Given the description of an element on the screen output the (x, y) to click on. 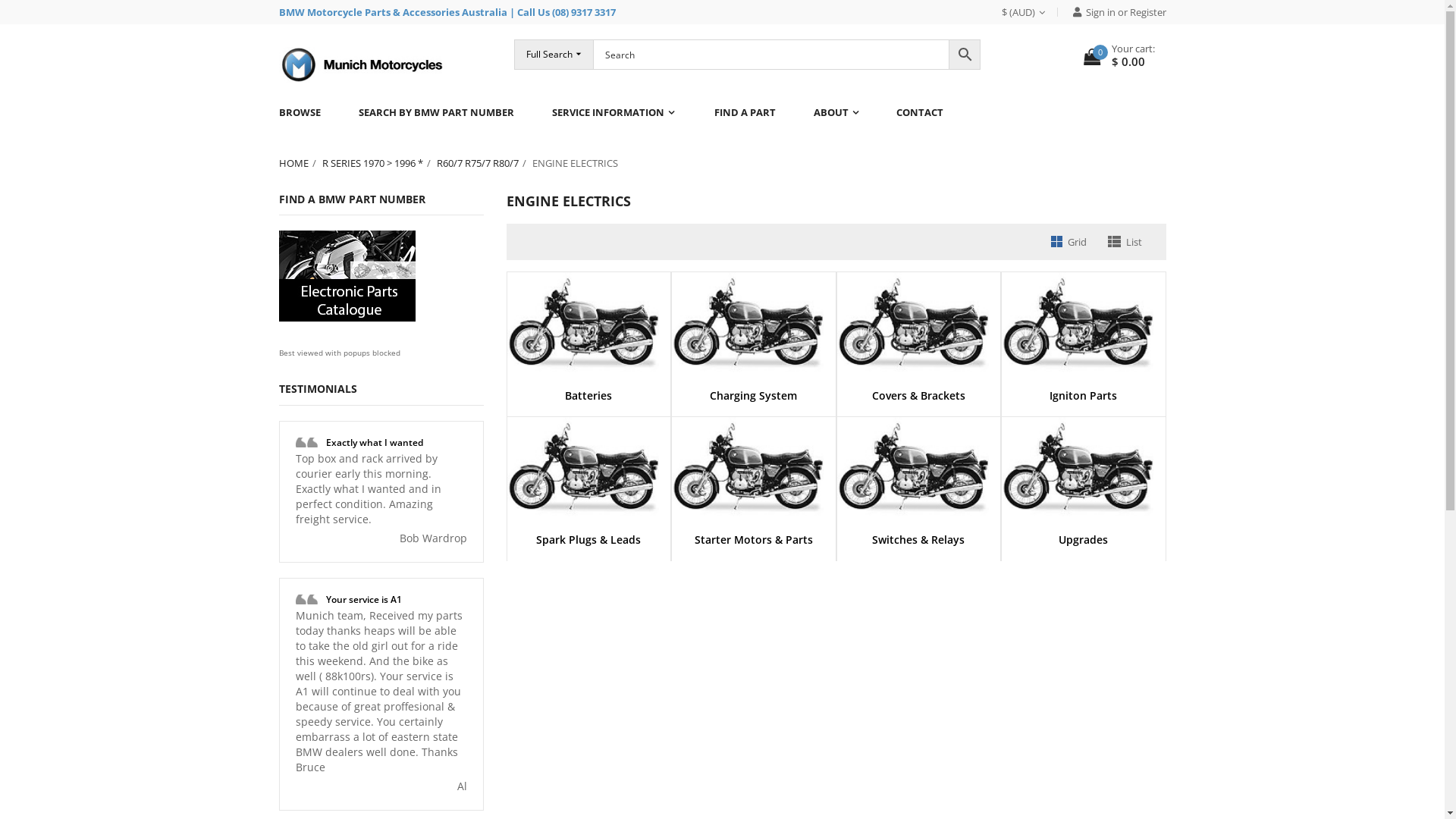
 FIND A PART Element type: text (743, 112)
Batteries Element type: text (588, 357)
Switches & Relays Element type: text (919, 502)
Grid Element type: text (1068, 241)
HOME Element type: text (300, 162)
BMW Motorcycle Parts & Accessories Australia Element type: text (393, 12)
Covers & Brackets Element type: text (919, 357)
Upgrades Element type: text (1083, 502)
0
Your cart:
$ 0.00 Element type: text (1118, 56)
| Call Us (08) 9317 3317 Element type: text (562, 12)
Igniton Parts Element type: text (1083, 357)
$ (AUD) Element type: text (1029, 12)
ABOUT Element type: text (835, 112)
R SERIES 1970 > 1996 * Element type: text (378, 162)
BROWSE Element type: text (309, 112)
Charging System Element type: text (753, 357)
List Element type: text (1124, 241)
CONTACT Element type: text (918, 112)
SEARCH BY BMW PART NUMBER Element type: text (436, 112)
Starter Motors & Parts Element type: text (753, 502)
Spark Plugs & Leads Element type: text (588, 502)
SERVICE INFORMATION Element type: text (612, 112)
R60/7 R75/7 R80/7 Element type: text (484, 162)
Sign in or Register Element type: text (1113, 12)
